Given the description of an element on the screen output the (x, y) to click on. 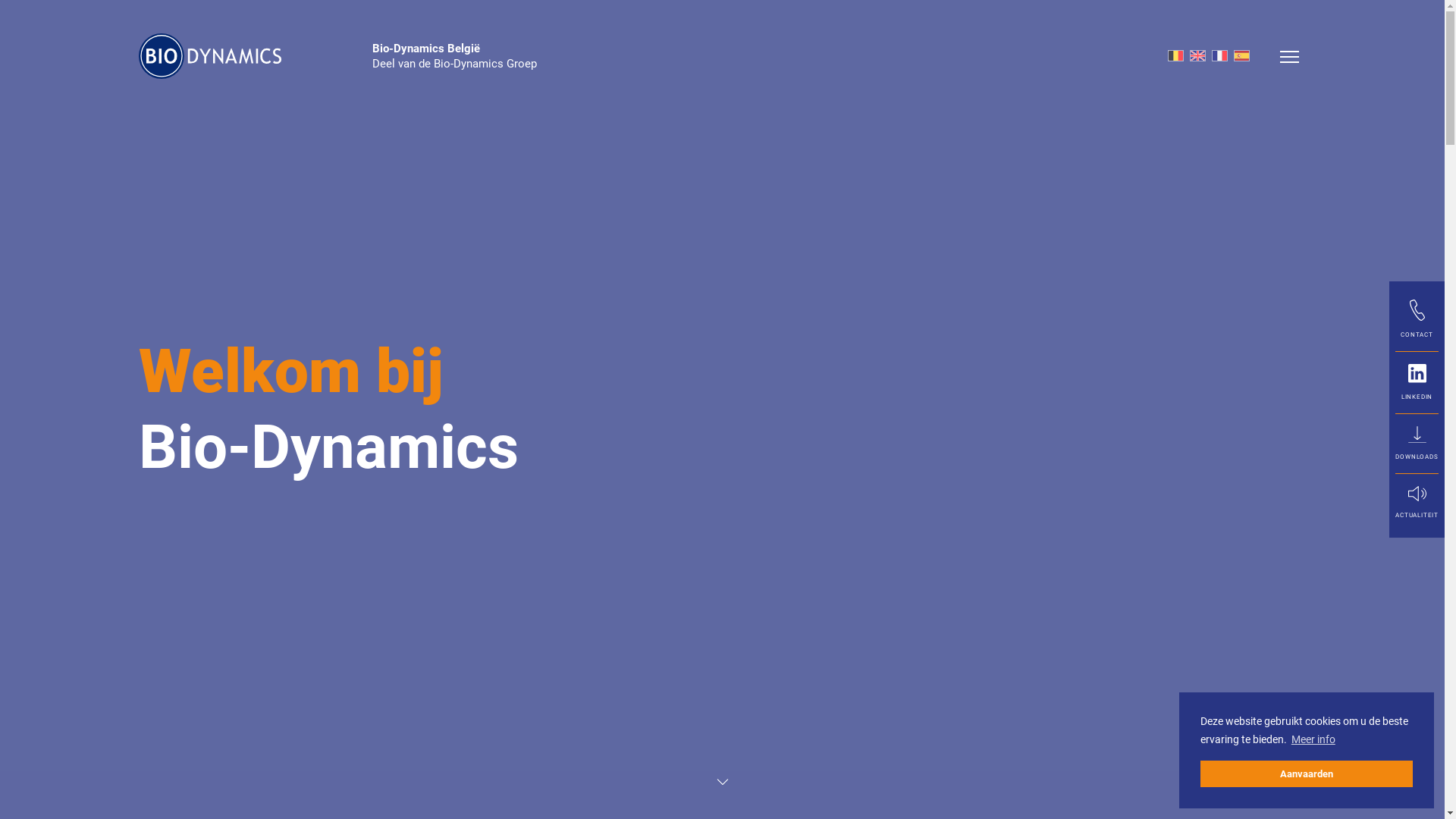
ACTUALITEIT Element type: text (1416, 502)
CONTACT Element type: text (1416, 319)
DOWNLOADS Element type: text (1416, 443)
LINKEDIN Element type: text (1416, 382)
Aanvaarden Element type: text (1306, 773)
Meer info Element type: text (1313, 739)
